Given the description of an element on the screen output the (x, y) to click on. 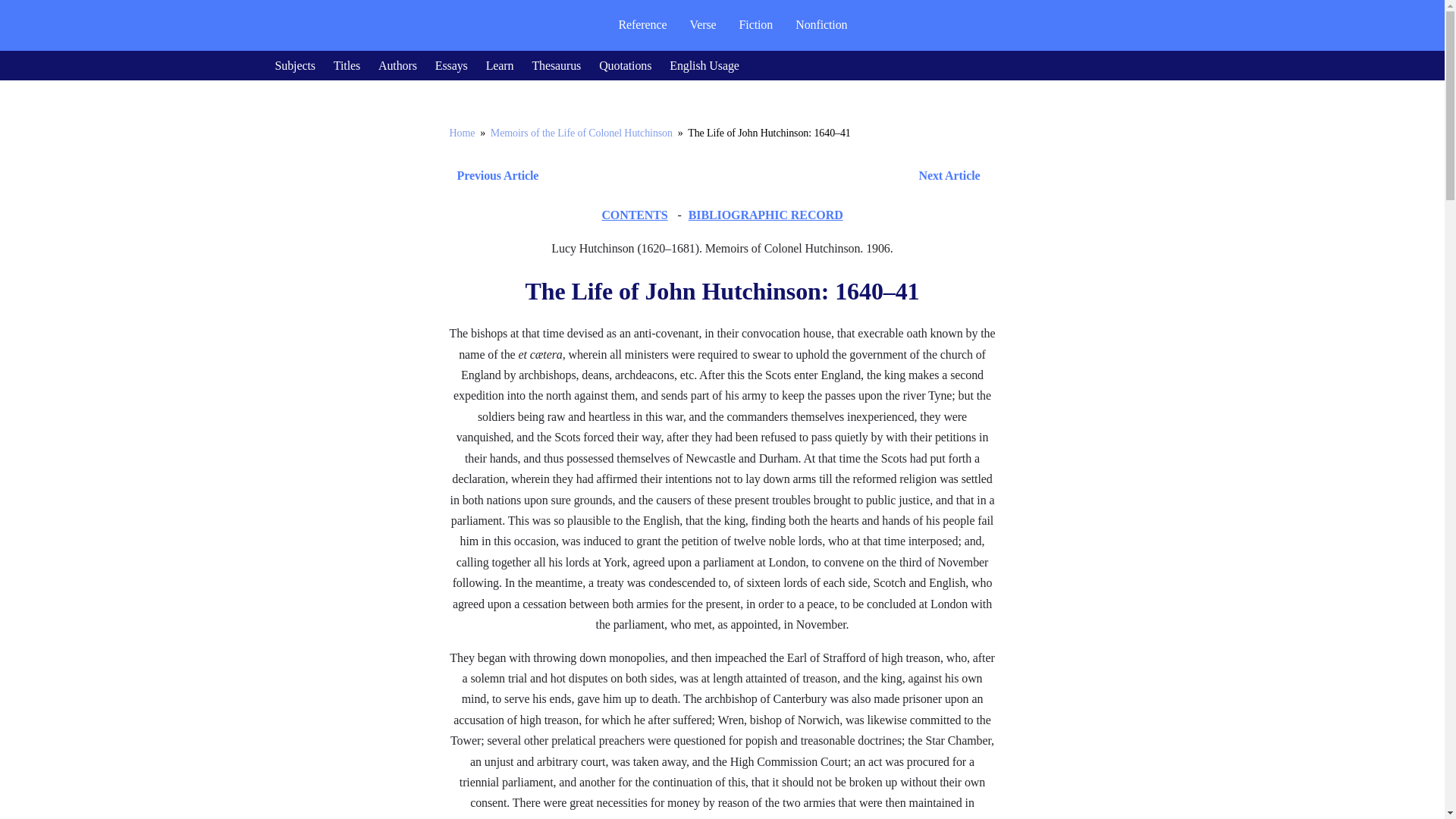
Verse (702, 24)
Nonfiction (821, 24)
BIBLIOGRAPHIC RECORD (765, 214)
Titles (346, 65)
Authors (397, 65)
Home (461, 132)
Subjects (294, 65)
Learn (499, 65)
CONTENTS (633, 214)
Memoirs of the Life of Colonel Hutchinson (581, 132)
Fiction (756, 24)
Next Article (766, 175)
Quotations (624, 65)
Essays (451, 65)
Previous Article (493, 175)
